Given the description of an element on the screen output the (x, y) to click on. 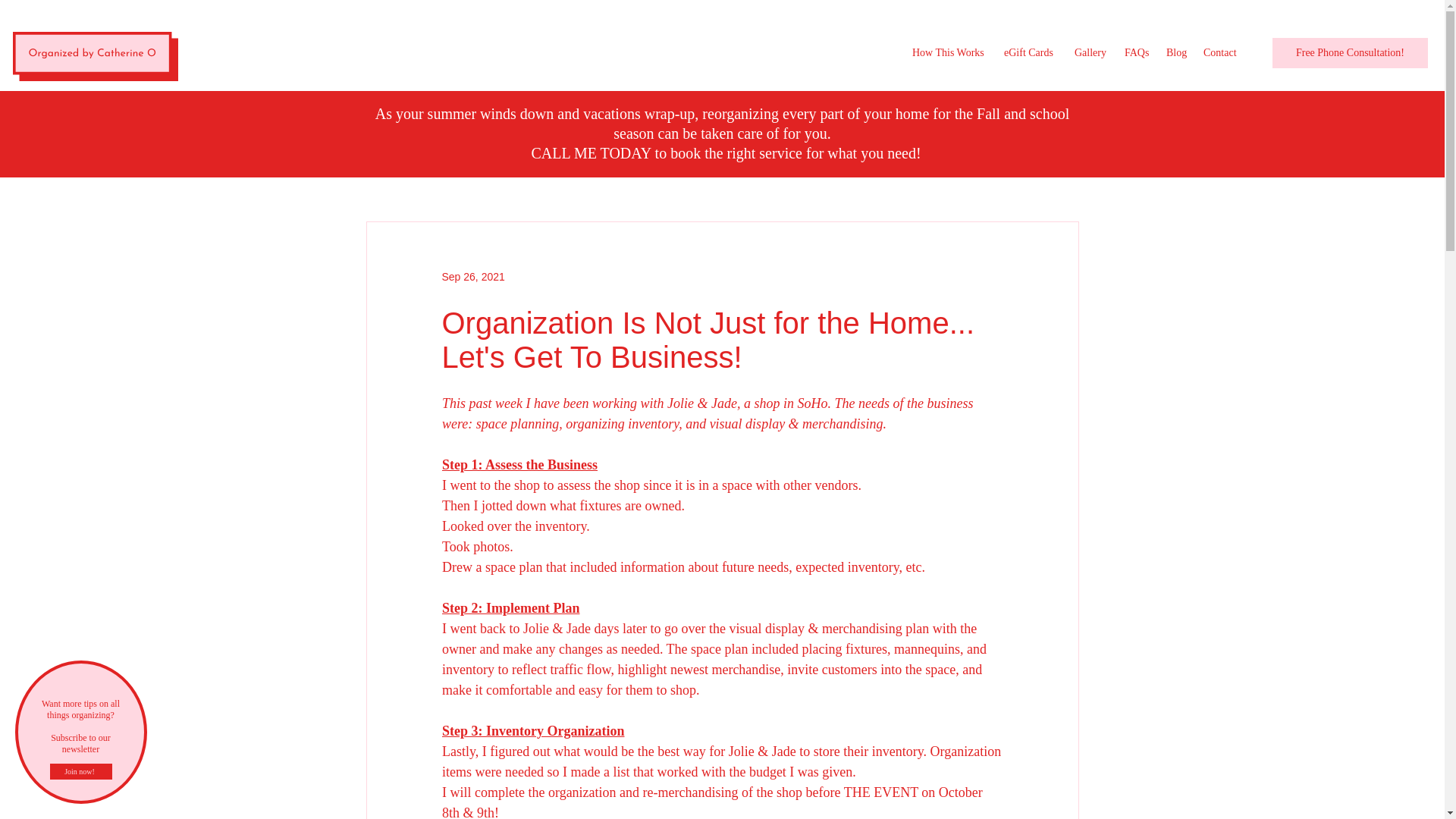
Join now! (80, 771)
Gallery (1091, 52)
Blog (1176, 52)
Free Phone Consultation! (1350, 52)
How This Works (949, 52)
FAQs (1137, 52)
Contact (1222, 52)
Sep 26, 2021 (472, 275)
eGift Cards (1031, 52)
